Given the description of an element on the screen output the (x, y) to click on. 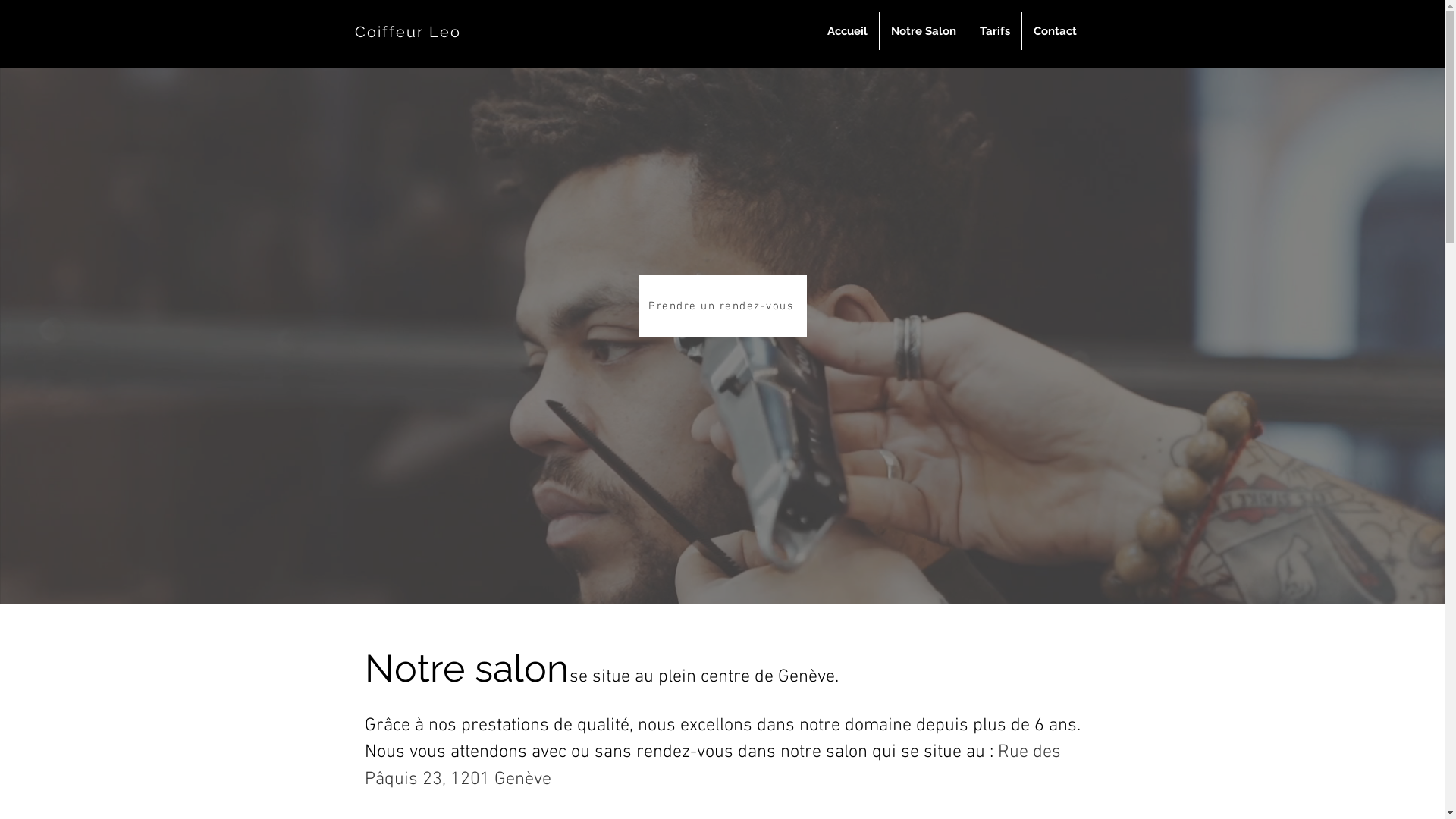
Contact Element type: text (1055, 31)
Prendre un rendez-vous Element type: text (722, 306)
Notre Salon Element type: text (923, 31)
Accueil Element type: text (846, 31)
Tarifs Element type: text (993, 31)
